Given the description of an element on the screen output the (x, y) to click on. 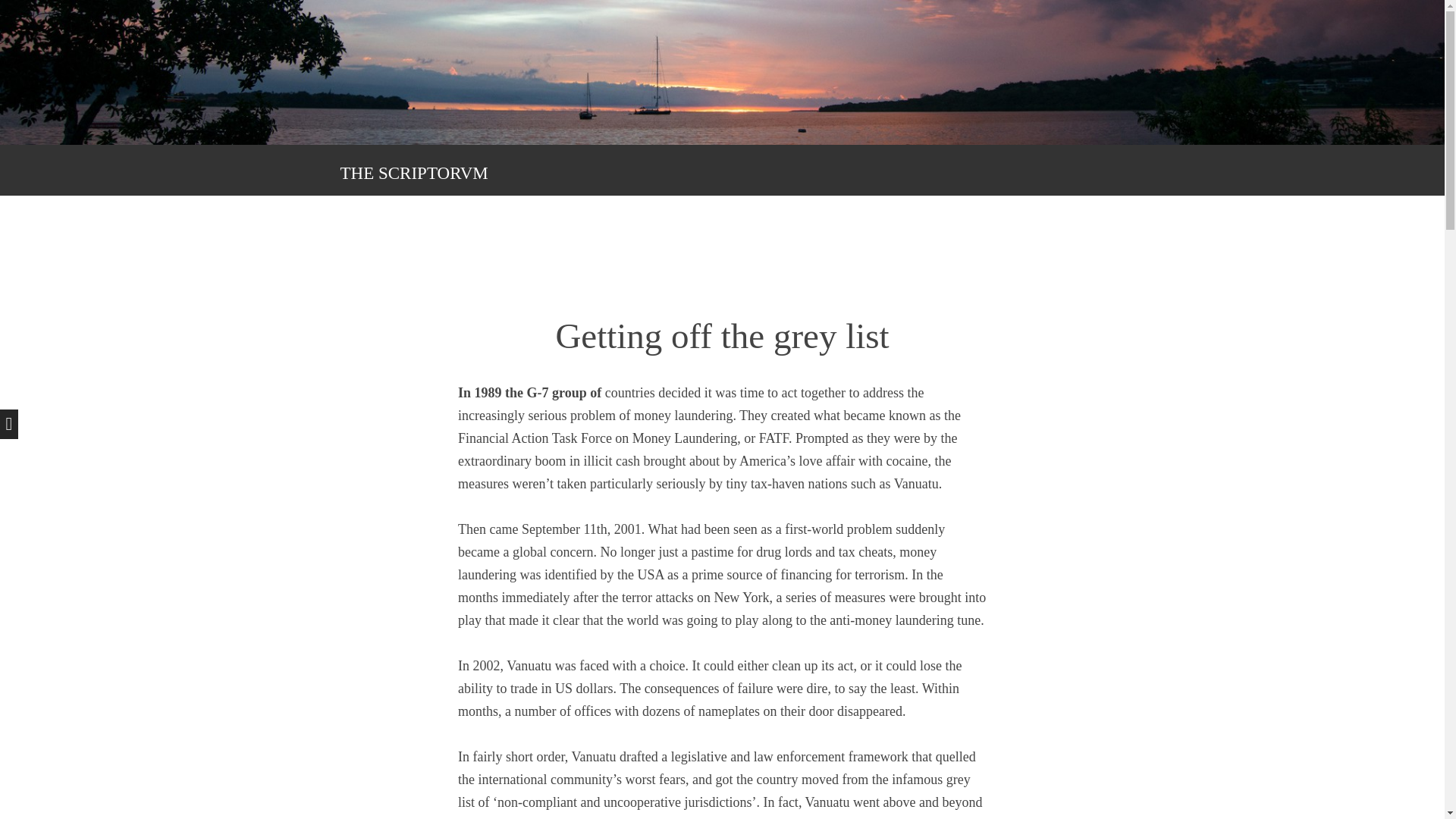
THE SCRIPTORVM (413, 172)
Search (34, 9)
THE SCRIPTORVM (413, 172)
